Given the description of an element on the screen output the (x, y) to click on. 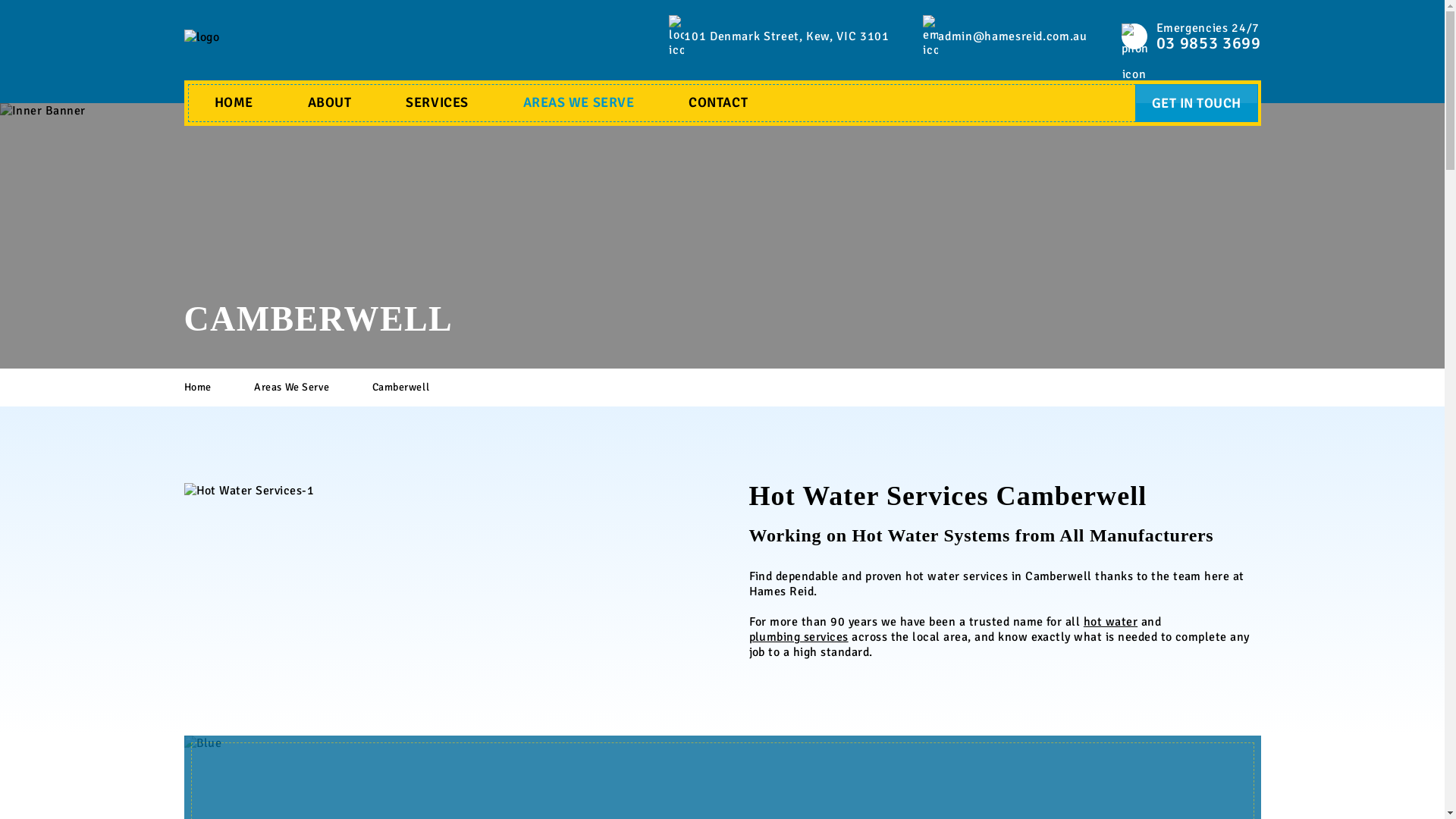
CONTACT Element type: text (717, 102)
Areas We Serve Element type: text (311, 387)
Home Element type: text (216, 387)
HOME Element type: text (232, 102)
GET IN TOUCH Element type: text (1196, 103)
ABOUT Element type: text (329, 102)
03 9853 3699 Element type: text (1208, 44)
admin@hamesreid.com.au Element type: text (1012, 35)
plumbing services Element type: text (798, 636)
SERVICES Element type: text (436, 102)
hot water Element type: text (1110, 621)
AREAS WE SERVE Element type: text (578, 102)
